Given the description of an element on the screen output the (x, y) to click on. 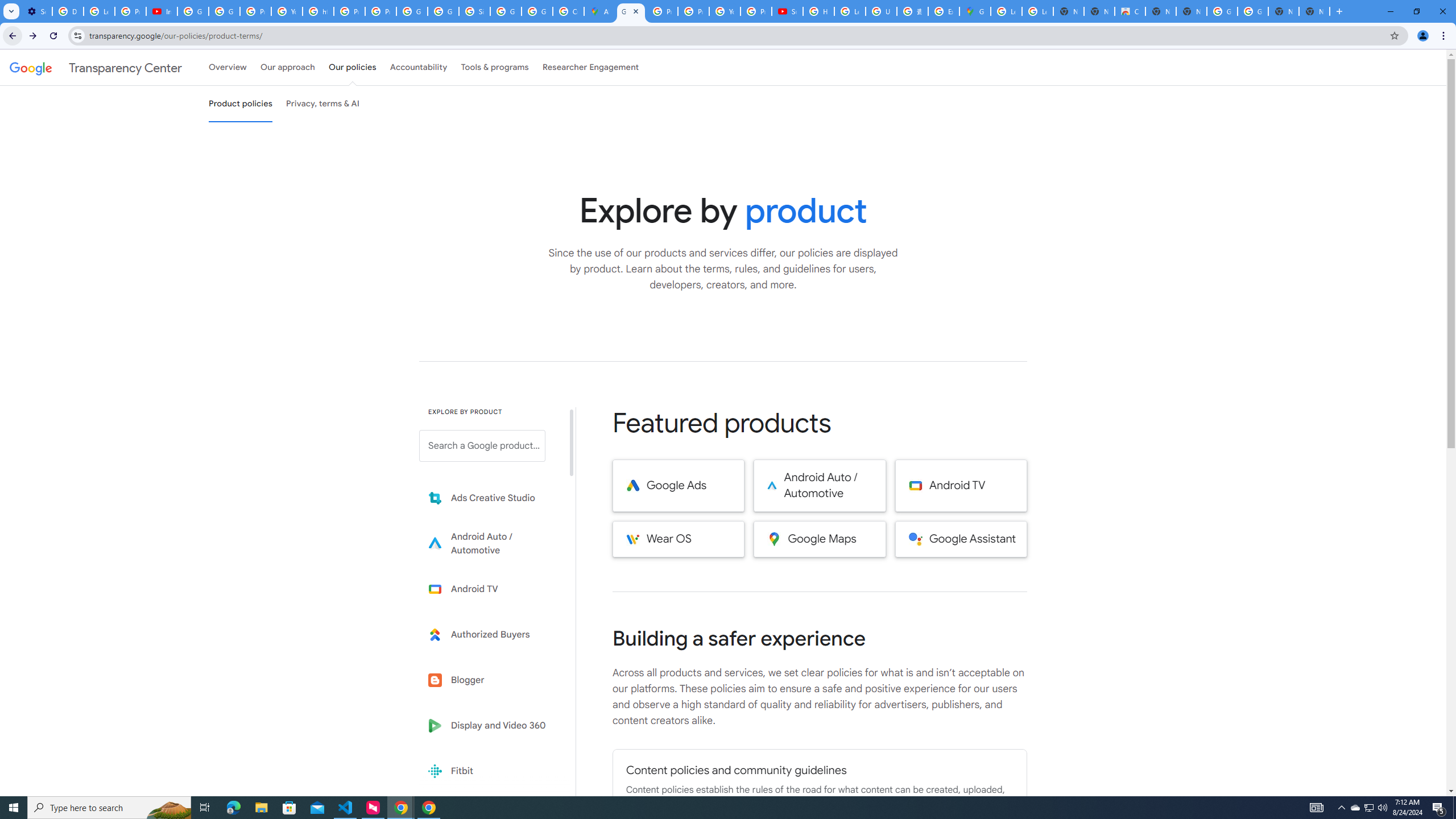
Introduction | Google Privacy Policy - YouTube (161, 11)
Android TV (960, 485)
View site information (77, 35)
Tools & programs (494, 67)
Blogger (490, 679)
Our policies (351, 67)
Accountability (418, 67)
Explore new street-level details - Google Maps Help (943, 11)
Transparency Center (95, 67)
Sign in - Google Accounts (474, 11)
https://scholar.google.com/ (318, 11)
